Given the description of an element on the screen output the (x, y) to click on. 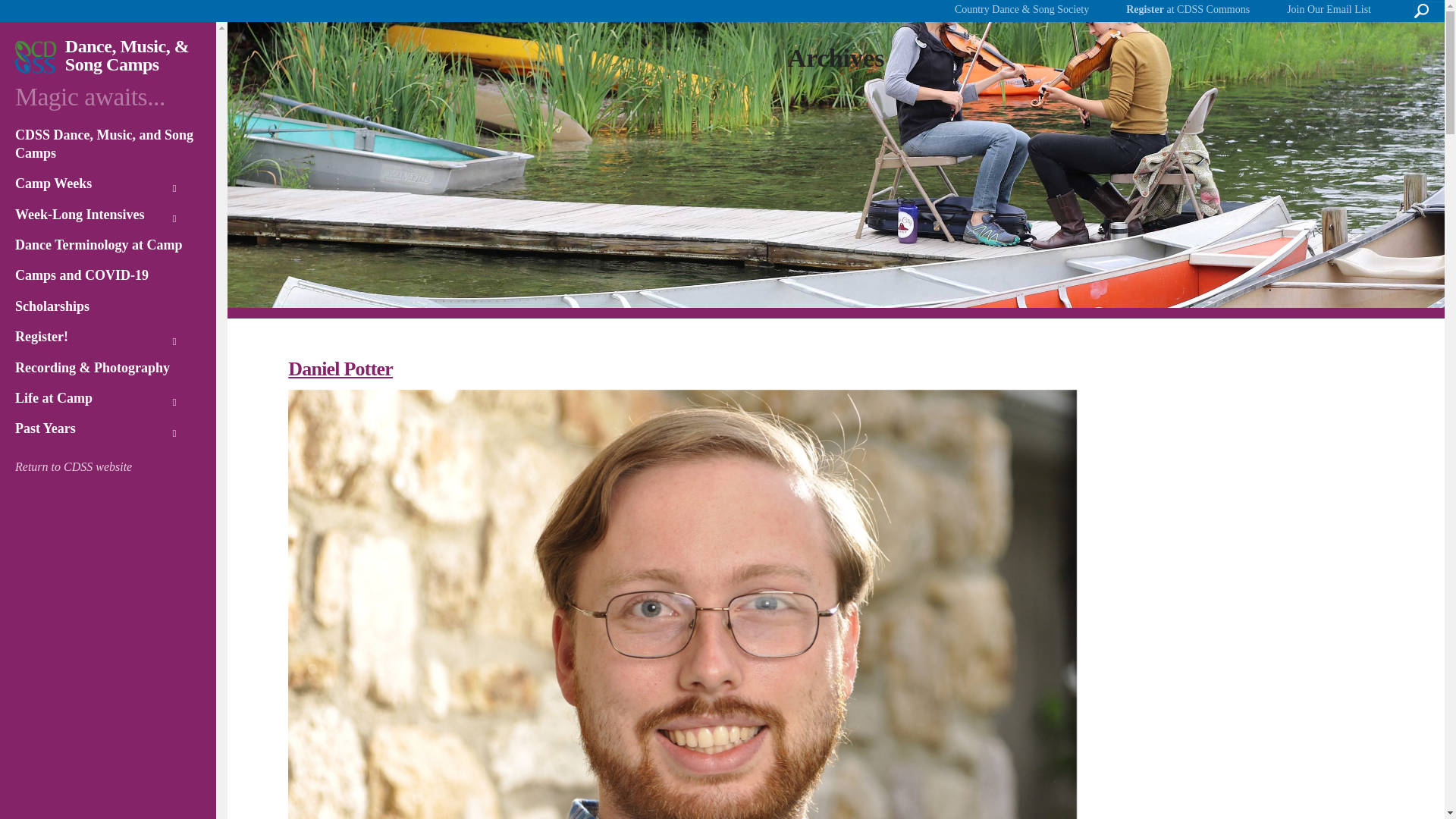
Search (37, 15)
Life at Camp (107, 401)
CDSS Dance, Music, and Song Camps (107, 147)
Camps and COVID-19 (107, 278)
Join Our Email List (1328, 10)
Register at CDSS Commons (1188, 10)
Scholarships (107, 310)
Dance Terminology at Camp (107, 248)
Week-Long Intensives (107, 218)
